Given the description of an element on the screen output the (x, y) to click on. 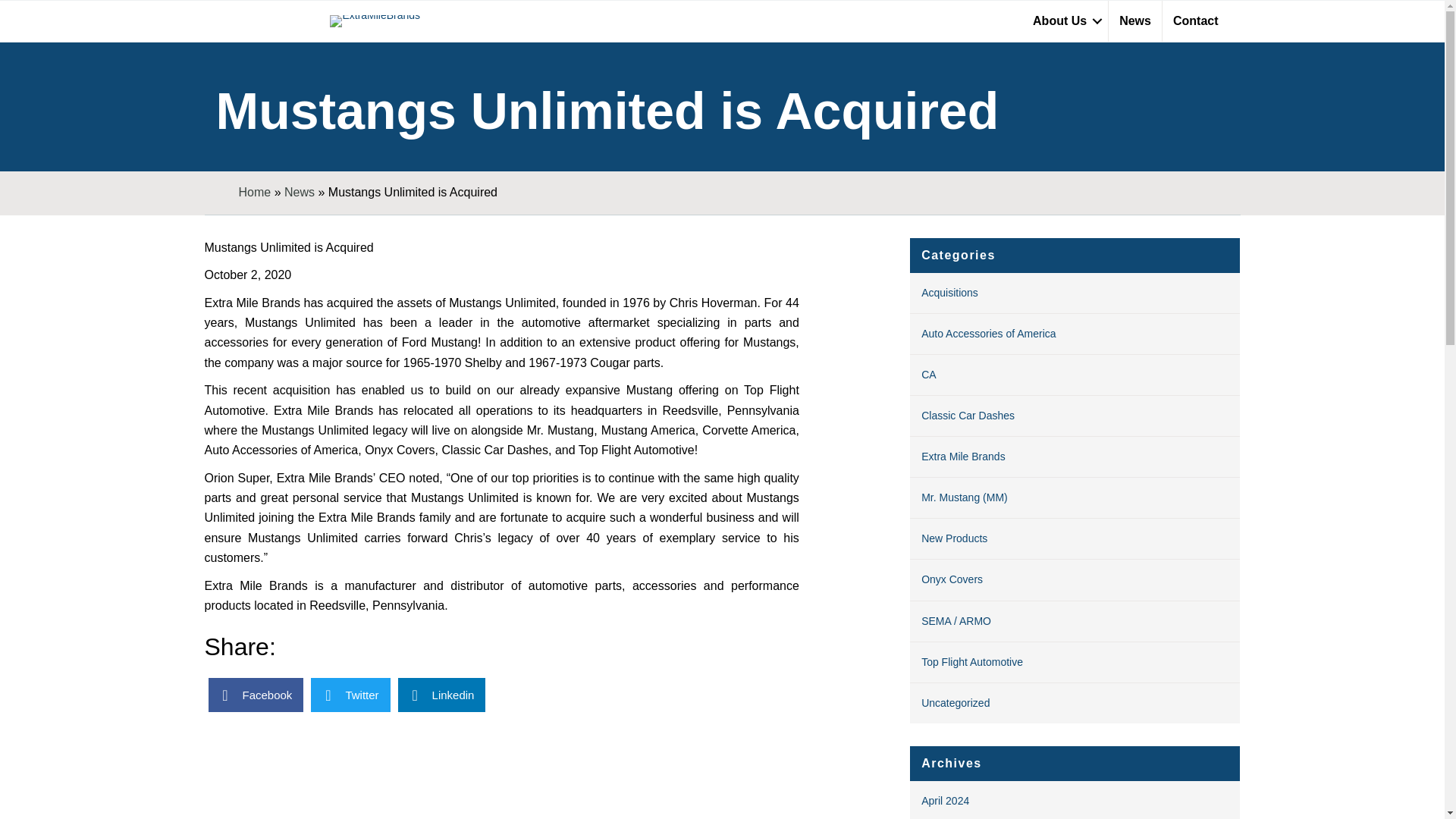
About Us (1065, 20)
Home (254, 192)
ExtraMileBrands (375, 21)
Extra Mile Brands (962, 456)
Uncategorized (955, 702)
Facebook (255, 694)
Auto Accessories of America (988, 333)
Top Flight Automotive (972, 662)
News (298, 192)
New Products (954, 538)
